Given the description of an element on the screen output the (x, y) to click on. 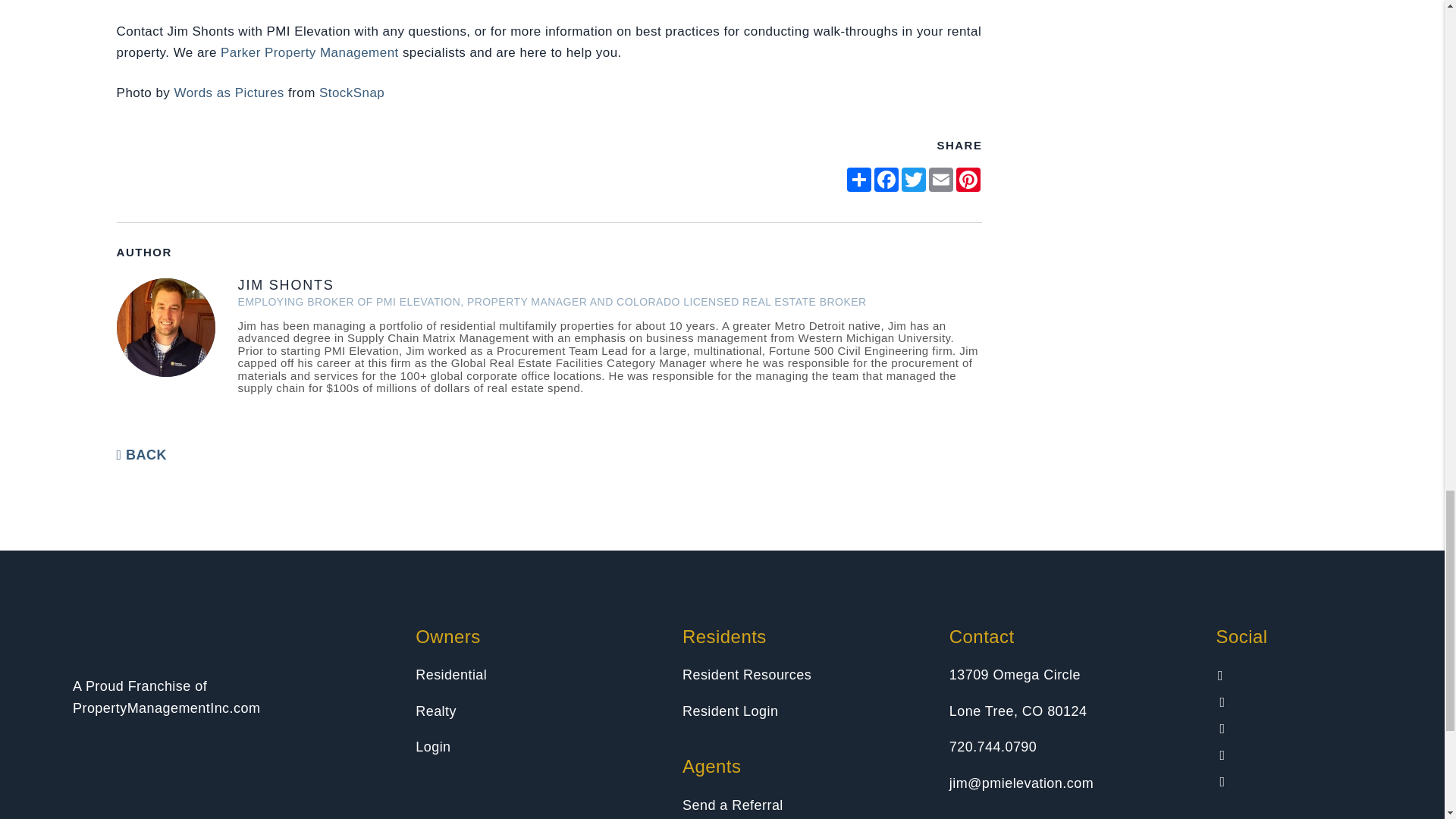
opens in new window (913, 179)
opens in new window (885, 179)
opens in new window (858, 179)
